Given the description of an element on the screen output the (x, y) to click on. 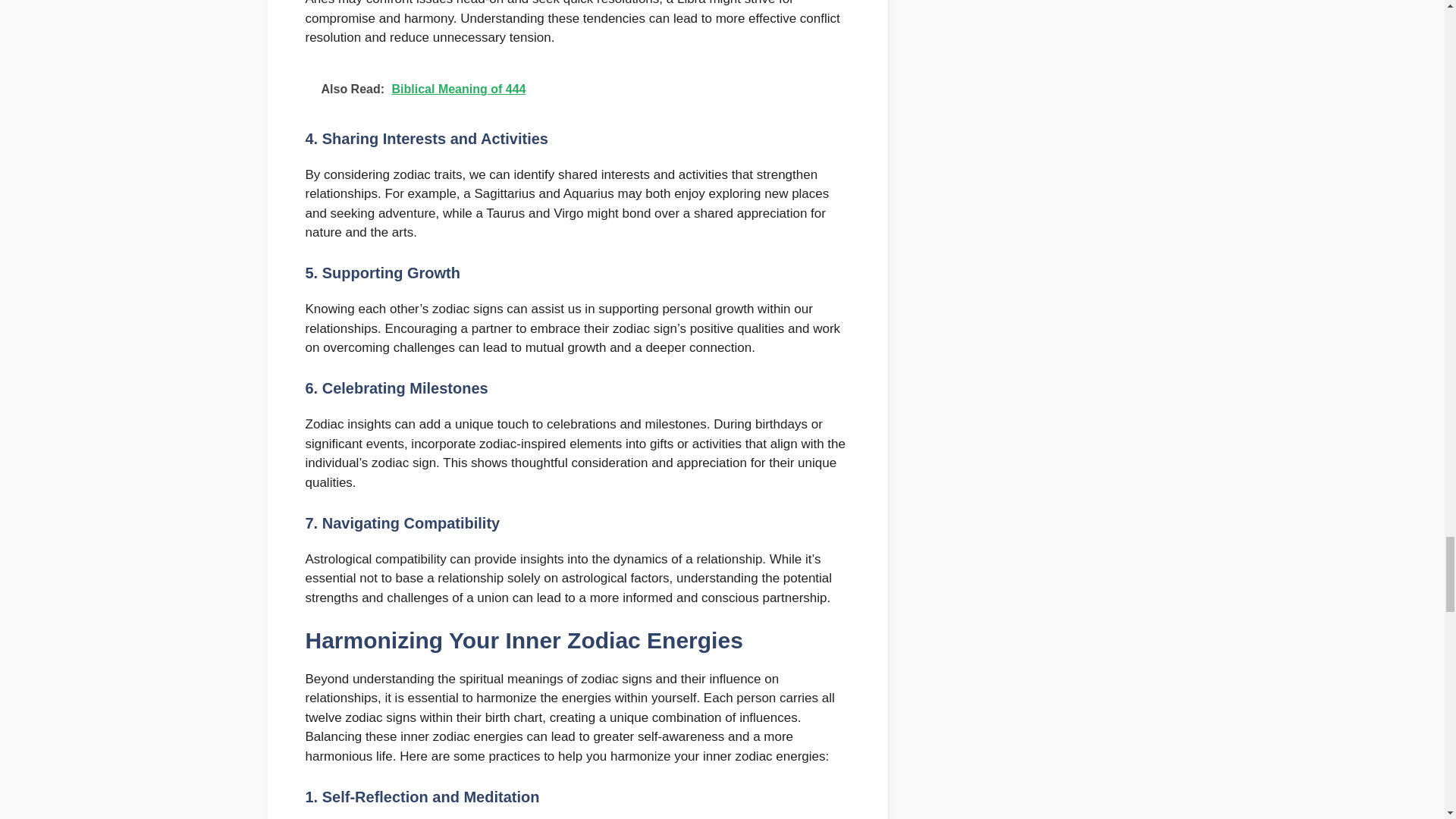
Also Read:  Biblical Meaning of 444 (576, 89)
